Given the description of an element on the screen output the (x, y) to click on. 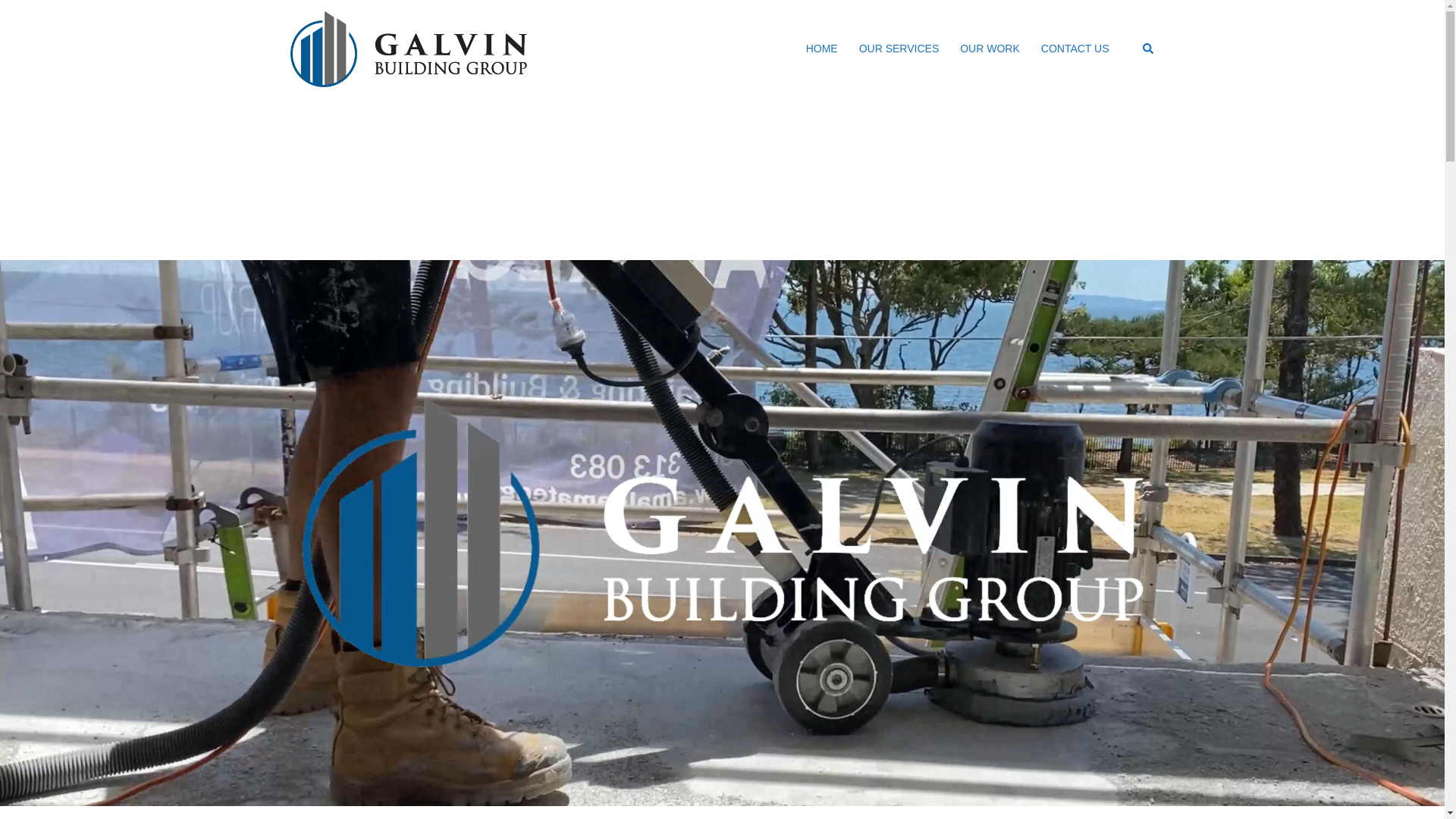
CONTACT US Element type: text (1075, 49)
Search Element type: text (1148, 49)
HOME Element type: text (821, 49)
Galvin Building Group Pty Ltd Element type: hover (407, 47)
OUR WORK Element type: text (989, 49)
OUR SERVICES Element type: text (899, 49)
